Given the description of an element on the screen output the (x, y) to click on. 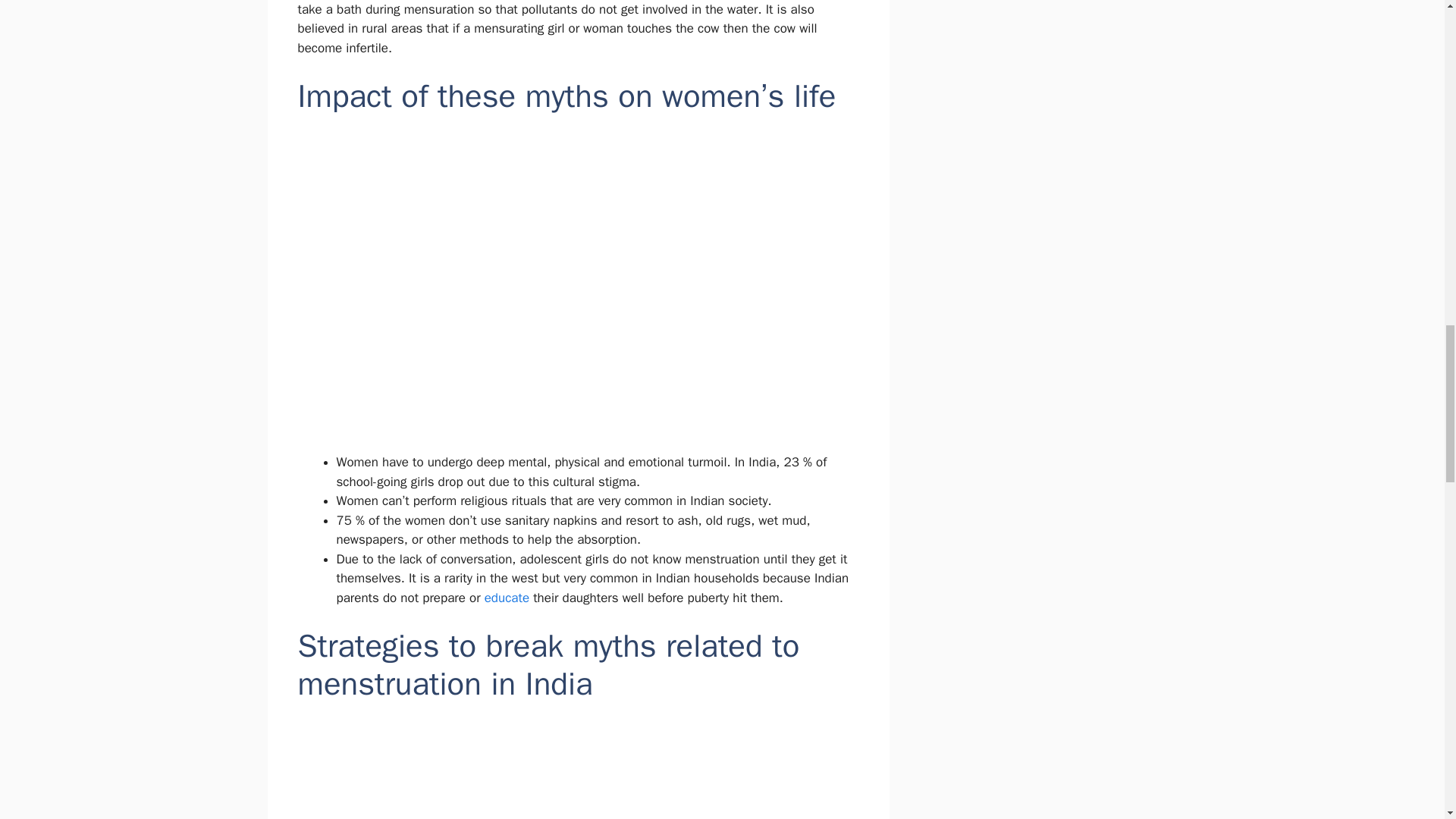
educate (506, 597)
